Given the description of an element on the screen output the (x, y) to click on. 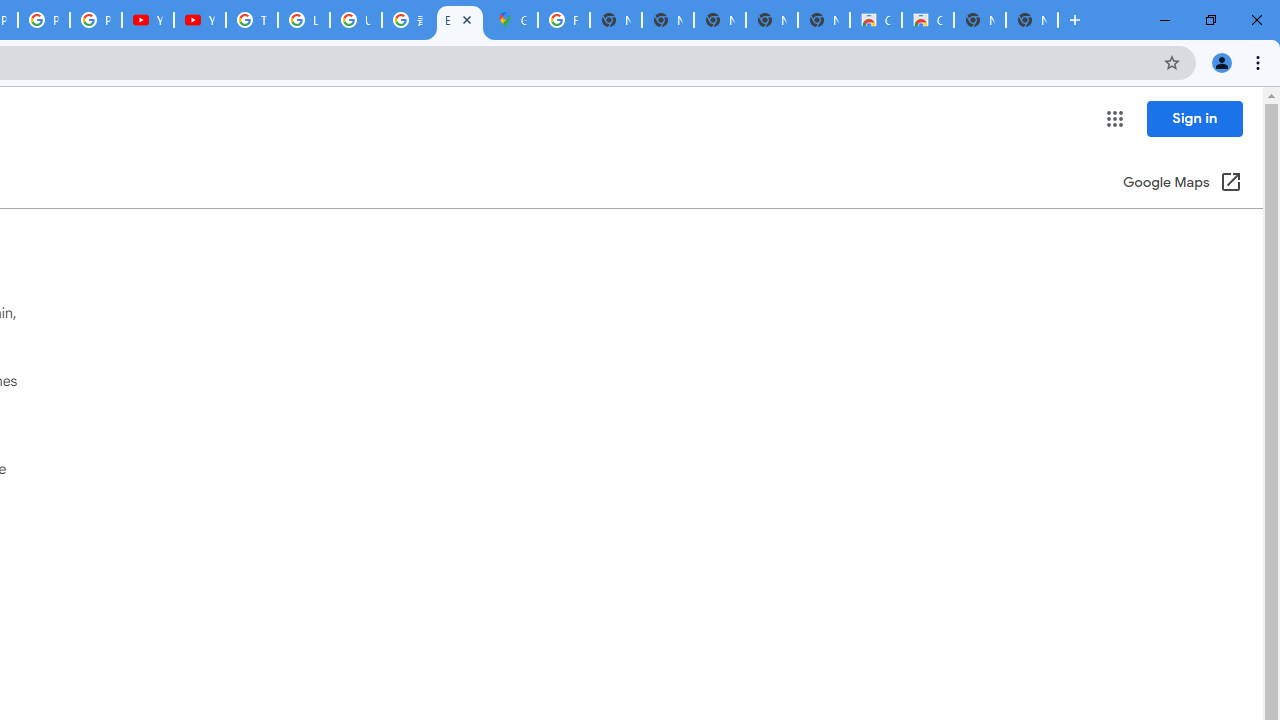
YouTube (147, 20)
YouTube (200, 20)
Explore new street-level details - Google Maps Help (459, 20)
New Tab (1032, 20)
Google Maps (511, 20)
